Given the description of an element on the screen output the (x, y) to click on. 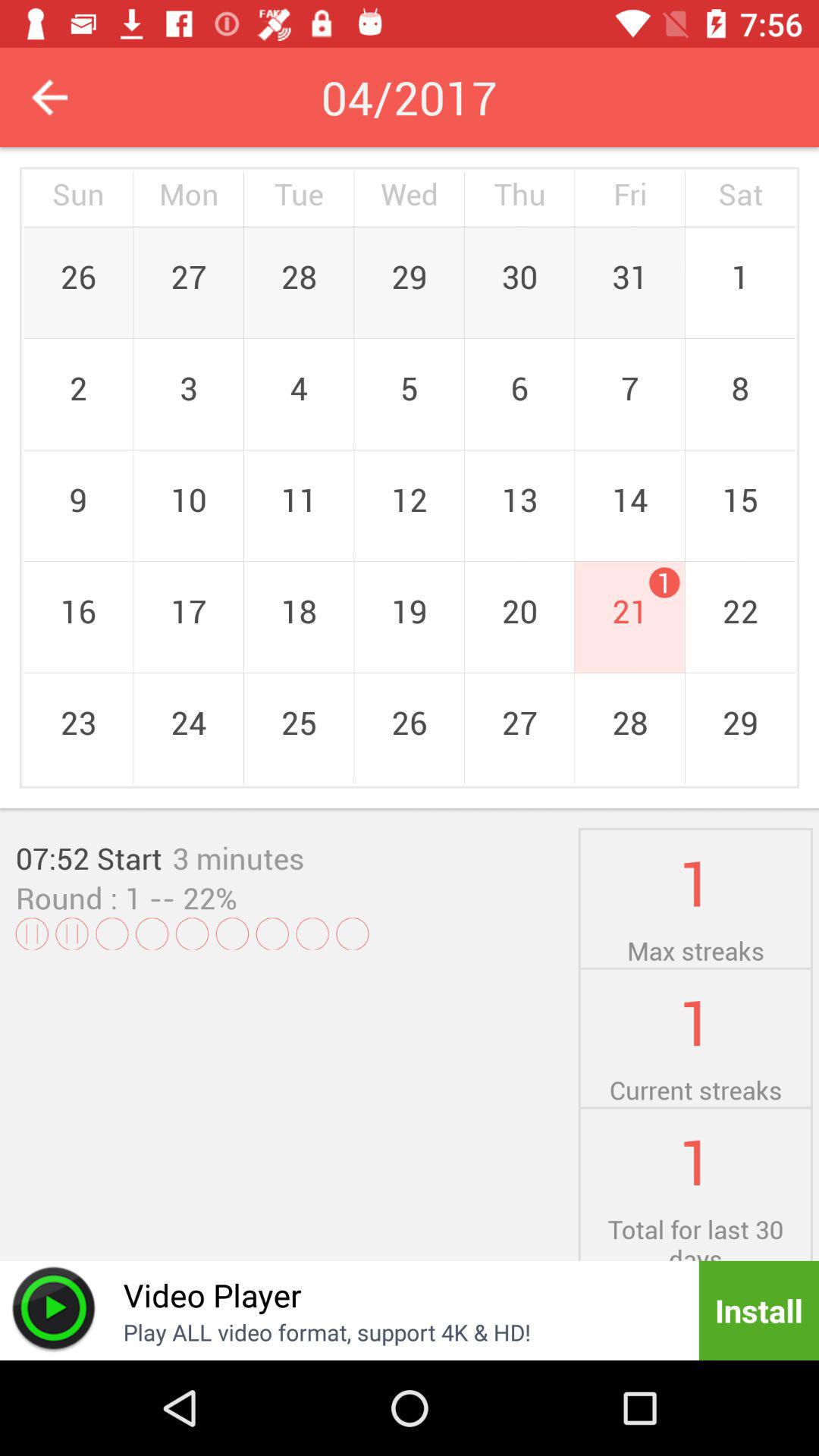
tap the item next to 1 (189, 897)
